Given the description of an element on the screen output the (x, y) to click on. 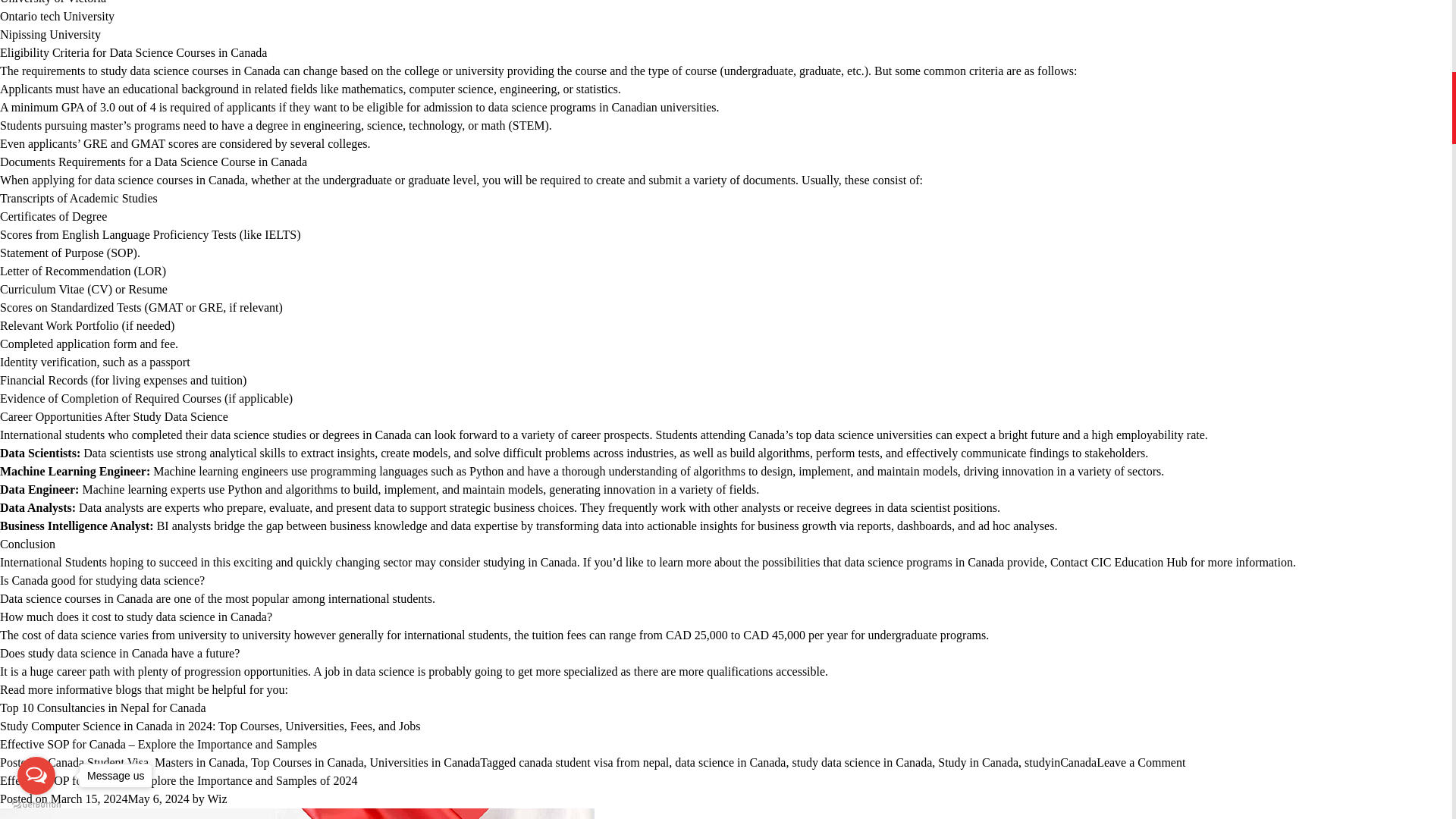
Top 10 Consultancies in Nepal for Canada (103, 707)
Canada Student Visa (98, 762)
Masters in Canada (199, 762)
